Given the description of an element on the screen output the (x, y) to click on. 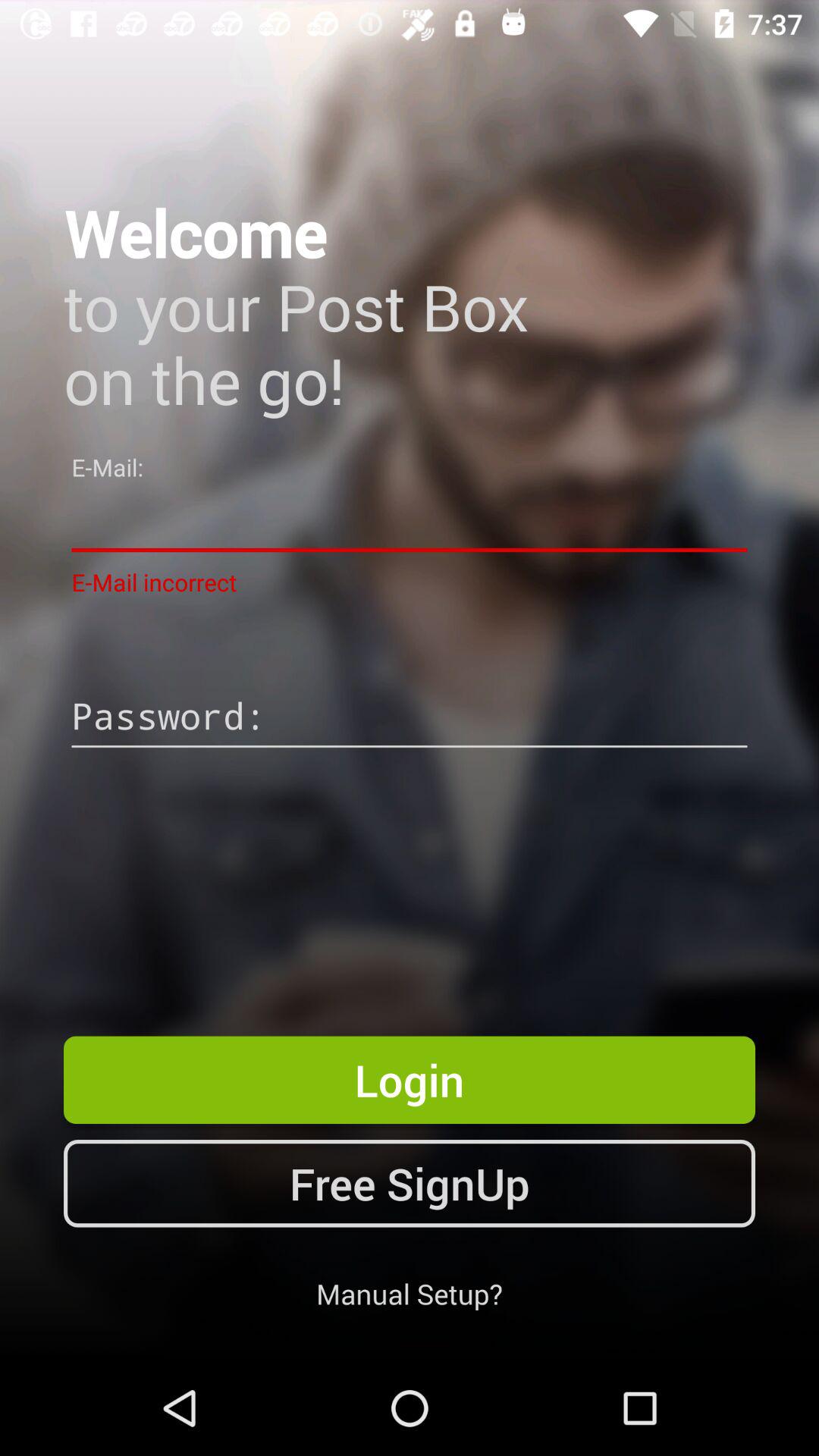
password line (409, 718)
